Given the description of an element on the screen output the (x, y) to click on. 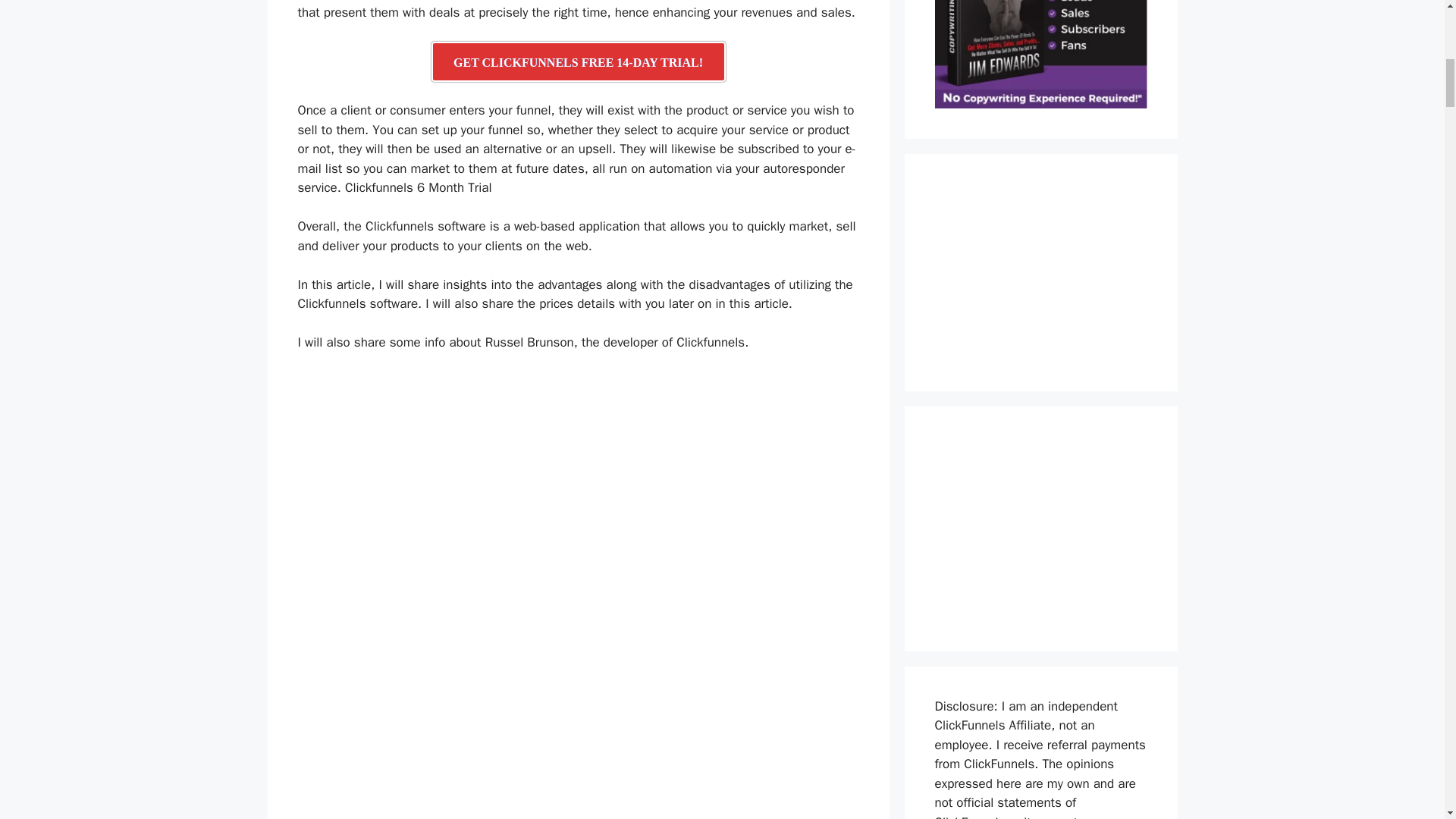
GET CLICKFUNNELS FREE 14-DAY TRIAL! (577, 61)
